Given the description of an element on the screen output the (x, y) to click on. 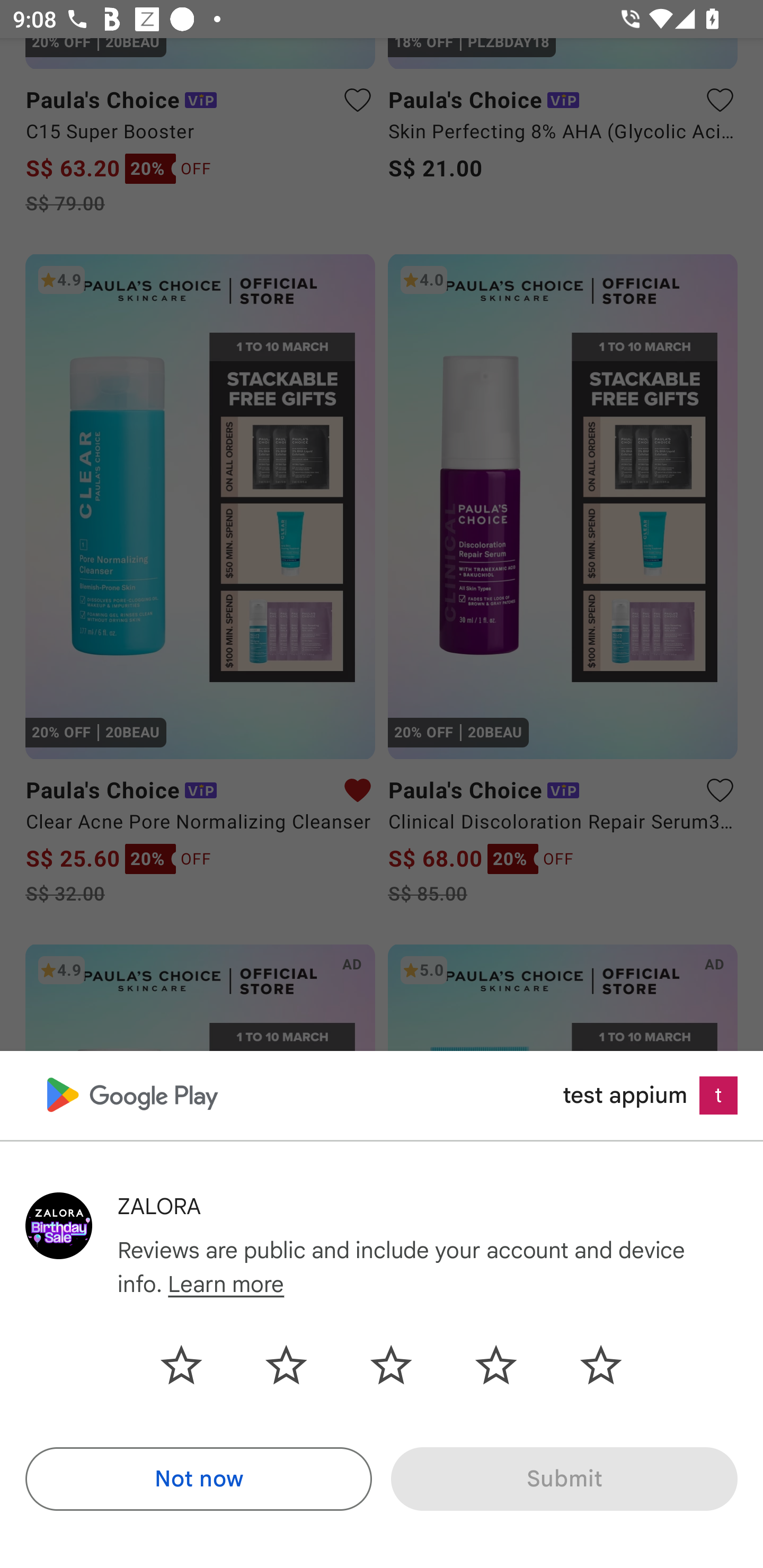
First star unselected (194, 1364)
Second star unselected (285, 1364)
Third star unselected (390, 1364)
Fourth star unselected (495, 1364)
Fifth star unselected (587, 1364)
Not now (198, 1479)
